Given the description of an element on the screen output the (x, y) to click on. 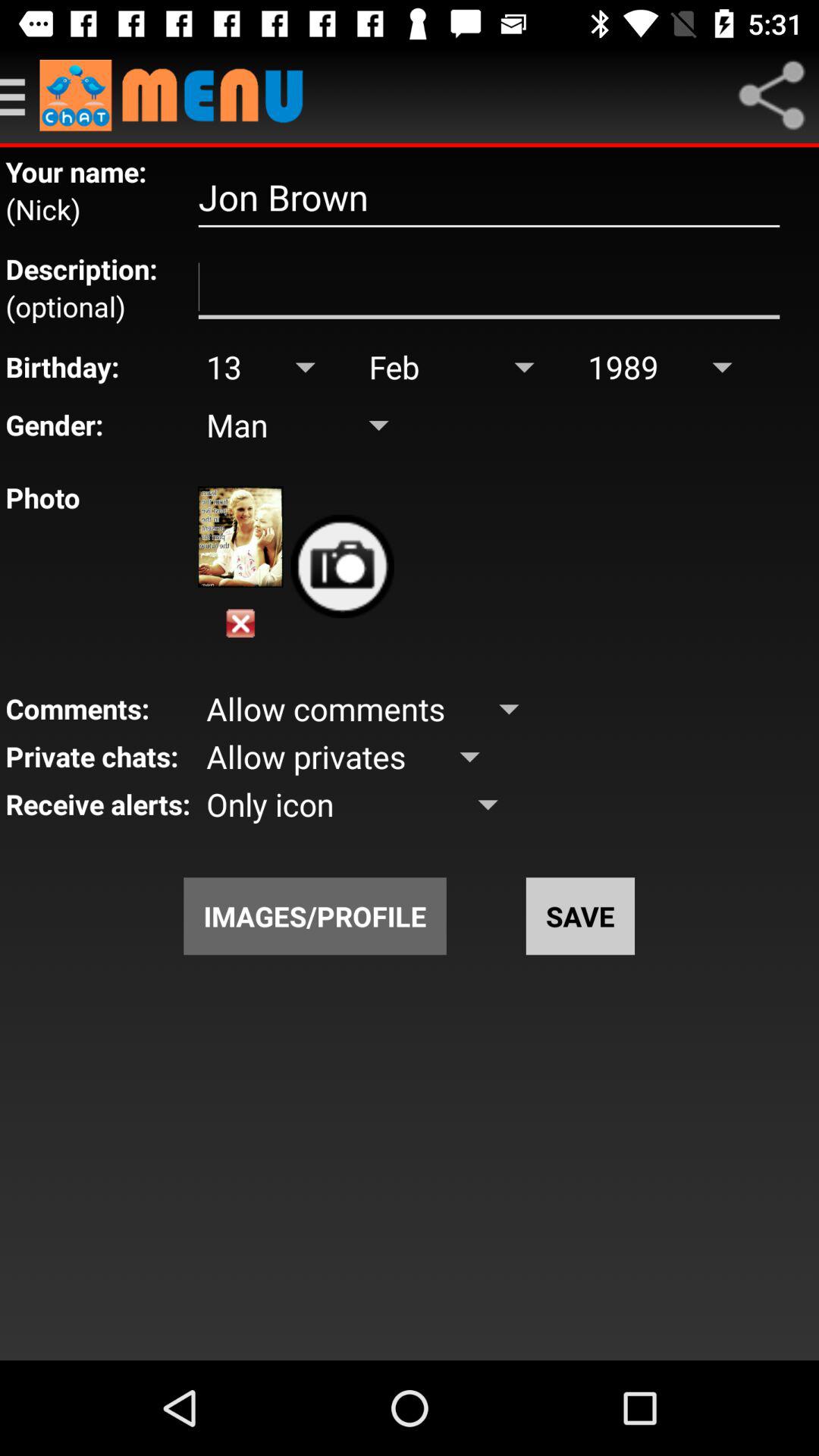
add description (488, 287)
